Given the description of an element on the screen output the (x, y) to click on. 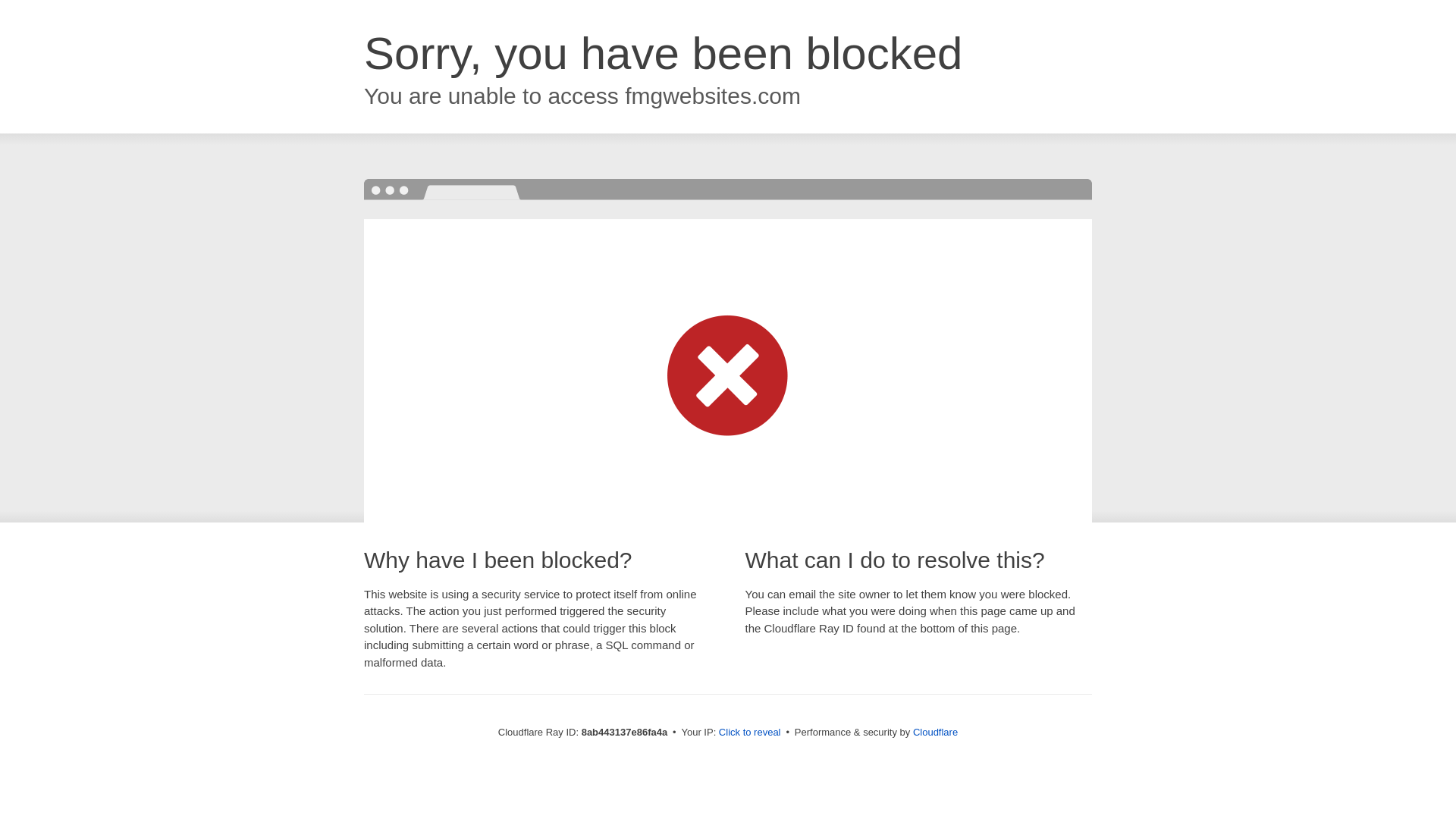
Click to reveal (749, 732)
Cloudflare (935, 731)
